Given the description of an element on the screen output the (x, y) to click on. 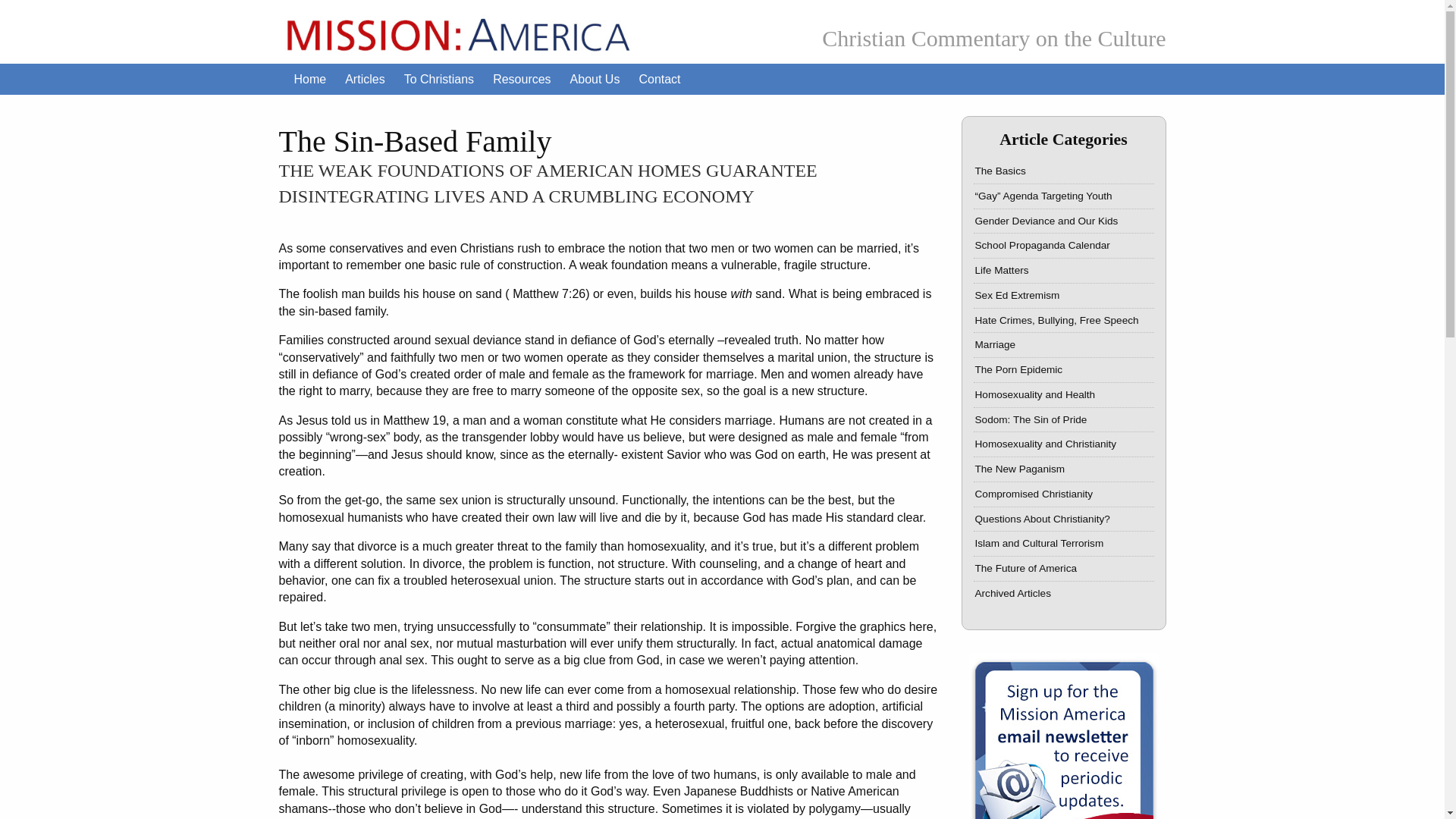
Resources (520, 79)
Sex Ed Extremism (1064, 295)
Articles (364, 79)
Life Matters (1064, 270)
Home (310, 79)
To Christians (438, 79)
School Propaganda Calendar (1064, 245)
Contact (658, 79)
Gender Deviance and Our Kids (1064, 220)
About Us (594, 79)
The Basics (1064, 170)
